Given the description of an element on the screen output the (x, y) to click on. 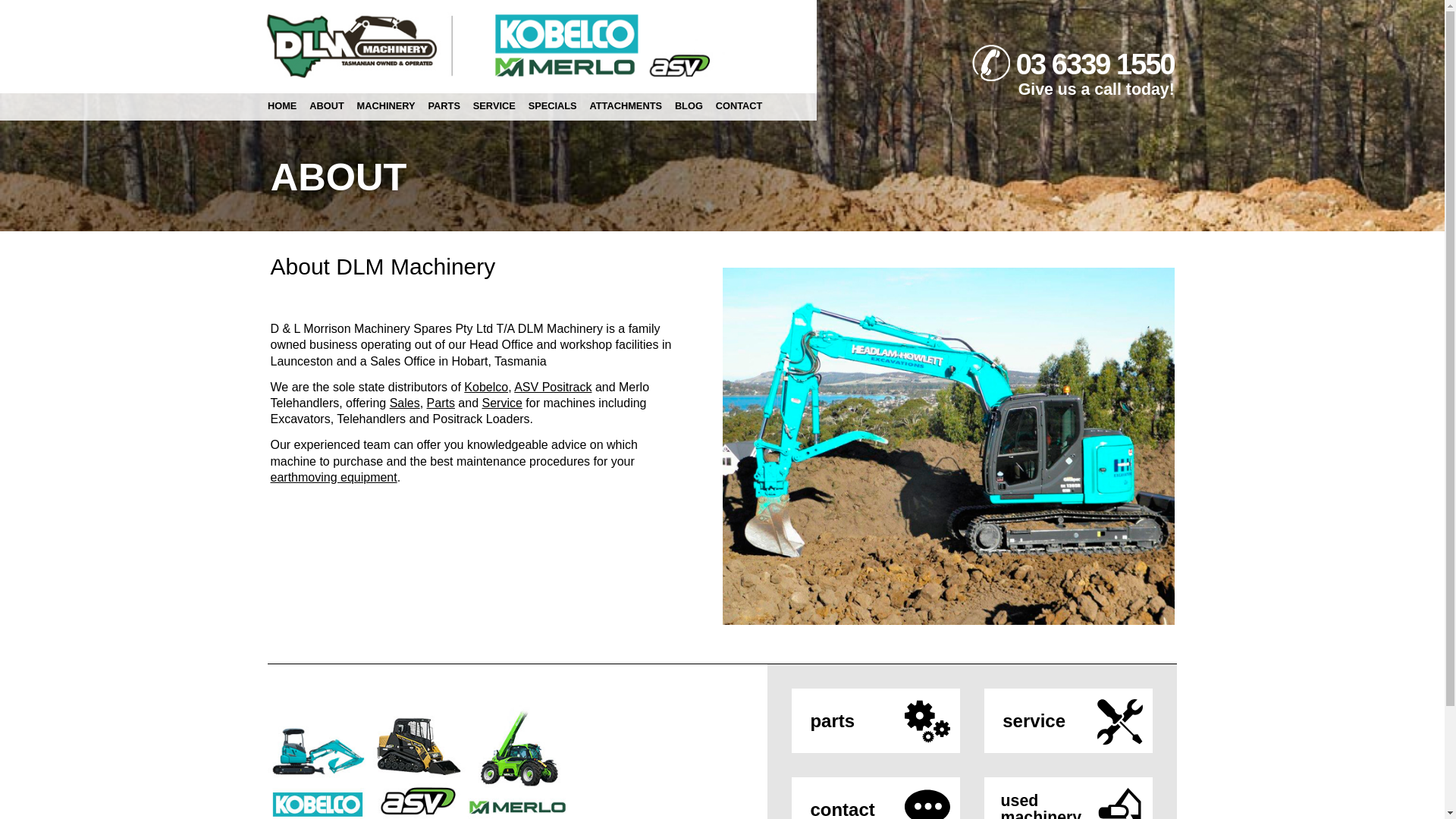
03 6339 1550 Element type: text (1095, 63)
SPECIALS Element type: text (552, 106)
parts Element type: text (875, 720)
SERVICE Element type: text (493, 106)
service Element type: text (1068, 720)
earthmoving equipment Element type: text (332, 476)
Sales Element type: text (404, 402)
DLM Machinery Dealer of Headlamhowlett Exacators Element type: hover (947, 445)
Parts Element type: text (440, 402)
BLOG Element type: text (688, 106)
ABOUT Element type: text (326, 106)
CONTACT Element type: text (738, 106)
Kobelco Element type: text (486, 386)
ASV Positrack Element type: text (552, 386)
HOME Element type: text (281, 106)
ATTACHMENTS Element type: text (625, 106)
Service Element type: text (502, 402)
PARTS Element type: text (443, 106)
MACHINERY Element type: text (385, 106)
